Given the description of an element on the screen output the (x, y) to click on. 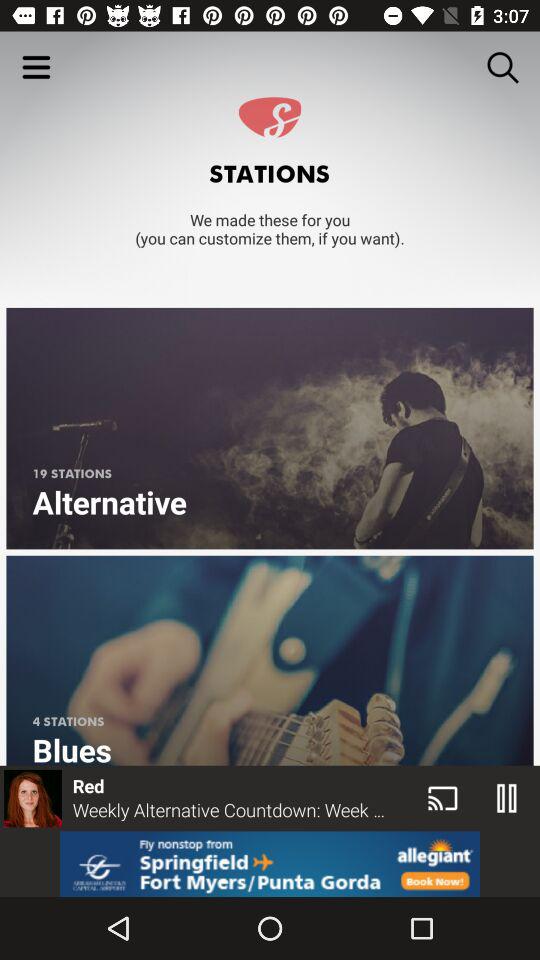
click on blues below alternative (269, 660)
image shown left to red at the bottom left corner (32, 797)
click on play button at the bottom right corner of the web page (507, 798)
